Given the description of an element on the screen output the (x, y) to click on. 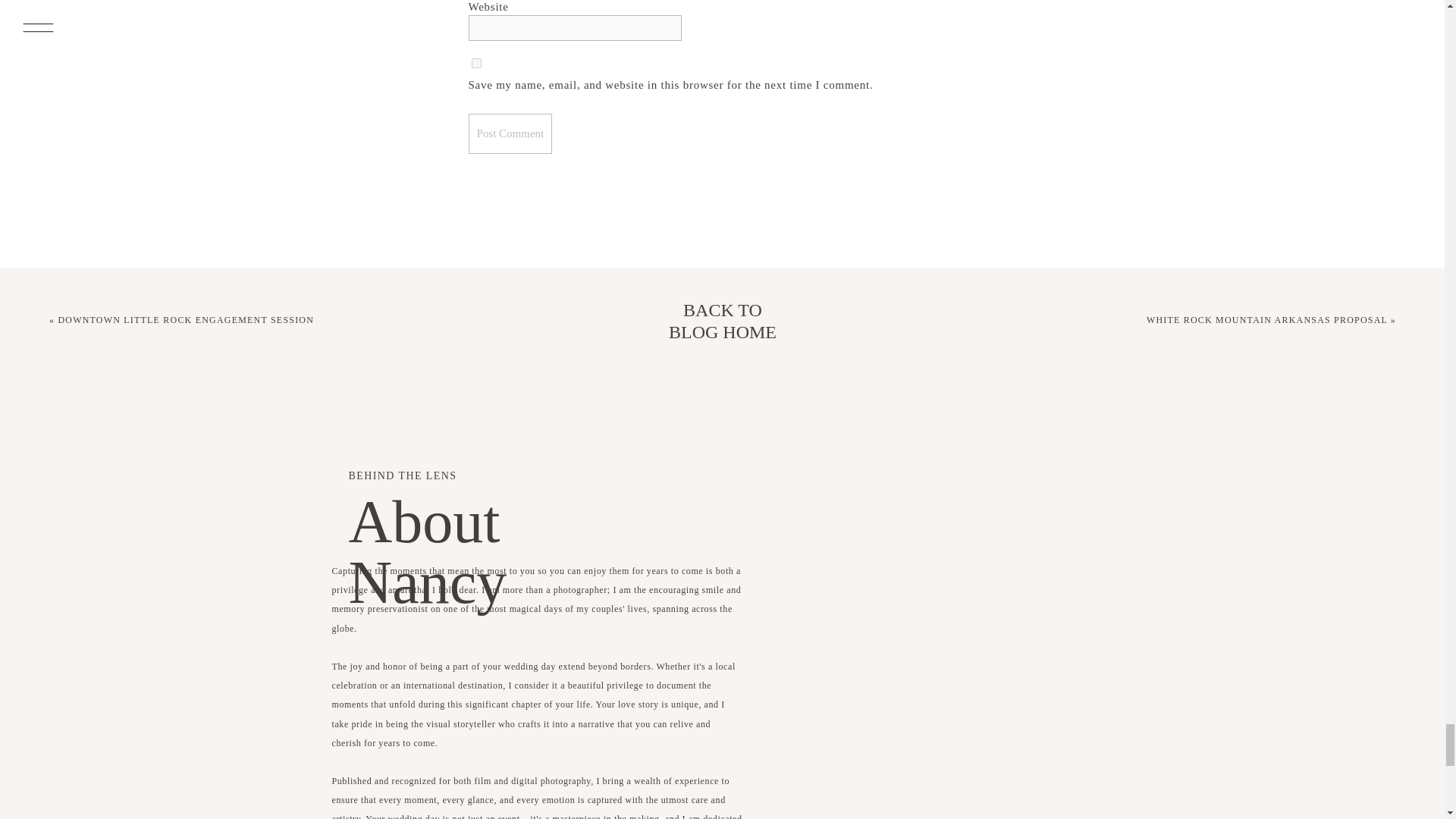
BACK TO BLOG HOME (722, 321)
Post Comment (510, 133)
DOWNTOWN LITTLE ROCK ENGAGEMENT SESSION (186, 319)
yes (476, 62)
Post Comment (510, 133)
WHITE ROCK MOUNTAIN ARKANSAS PROPOSAL (1267, 319)
